Given the description of an element on the screen output the (x, y) to click on. 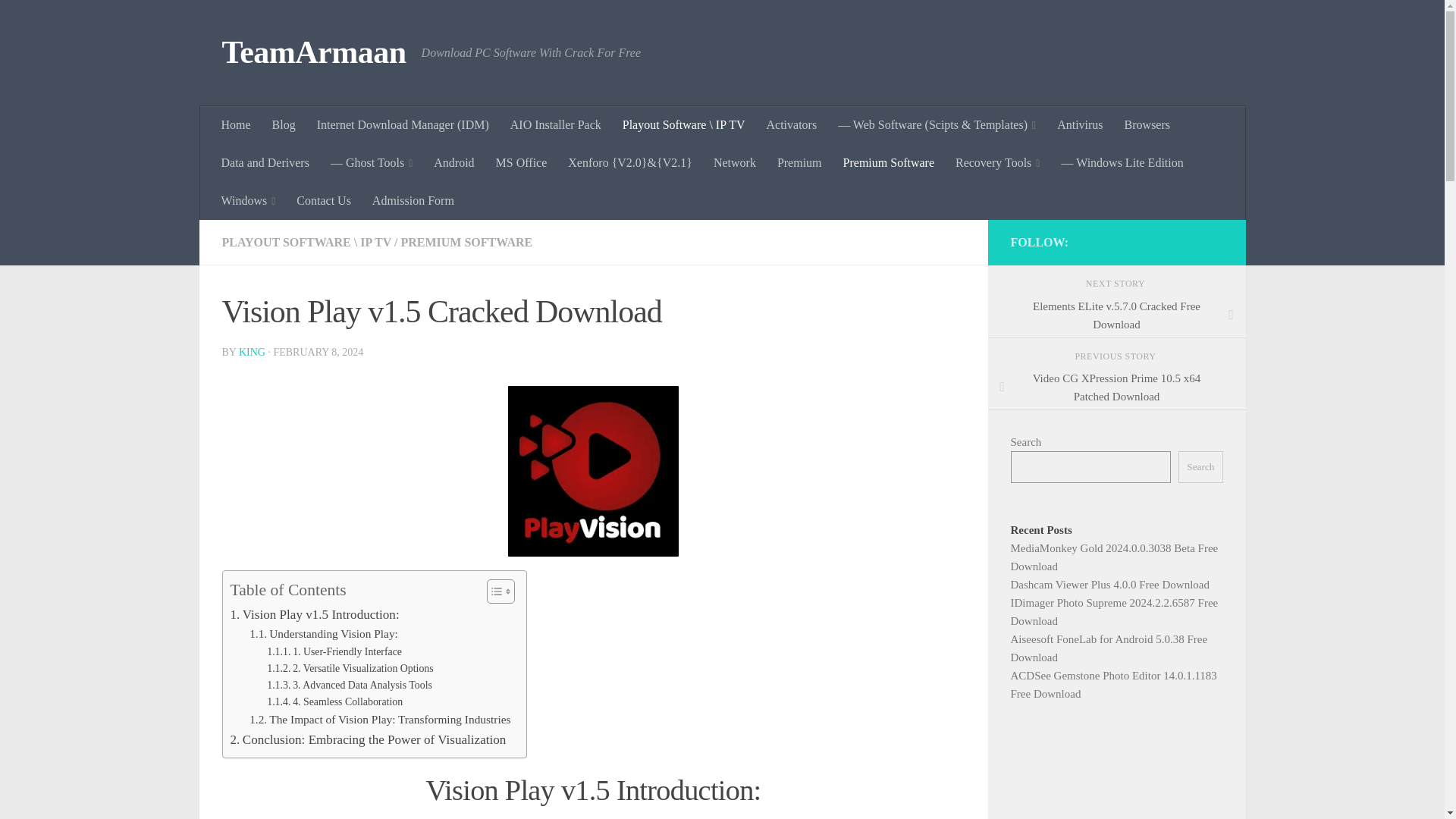
Vision Play v1.5 Introduction: (314, 614)
Skip to content (59, 20)
TeamArmaan (313, 53)
1. User-Friendly Interface (333, 651)
Posts by King (251, 351)
Understanding Vision Play: (322, 633)
3. Advanced Data Analysis Tools (349, 685)
The Impact of Vision Play: Transforming Industries (379, 719)
4. Seamless Collaboration (334, 701)
Conclusion: Embracing the Power of Visualization (368, 739)
2. Versatile Visualization Options (349, 668)
